Given the description of an element on the screen output the (x, y) to click on. 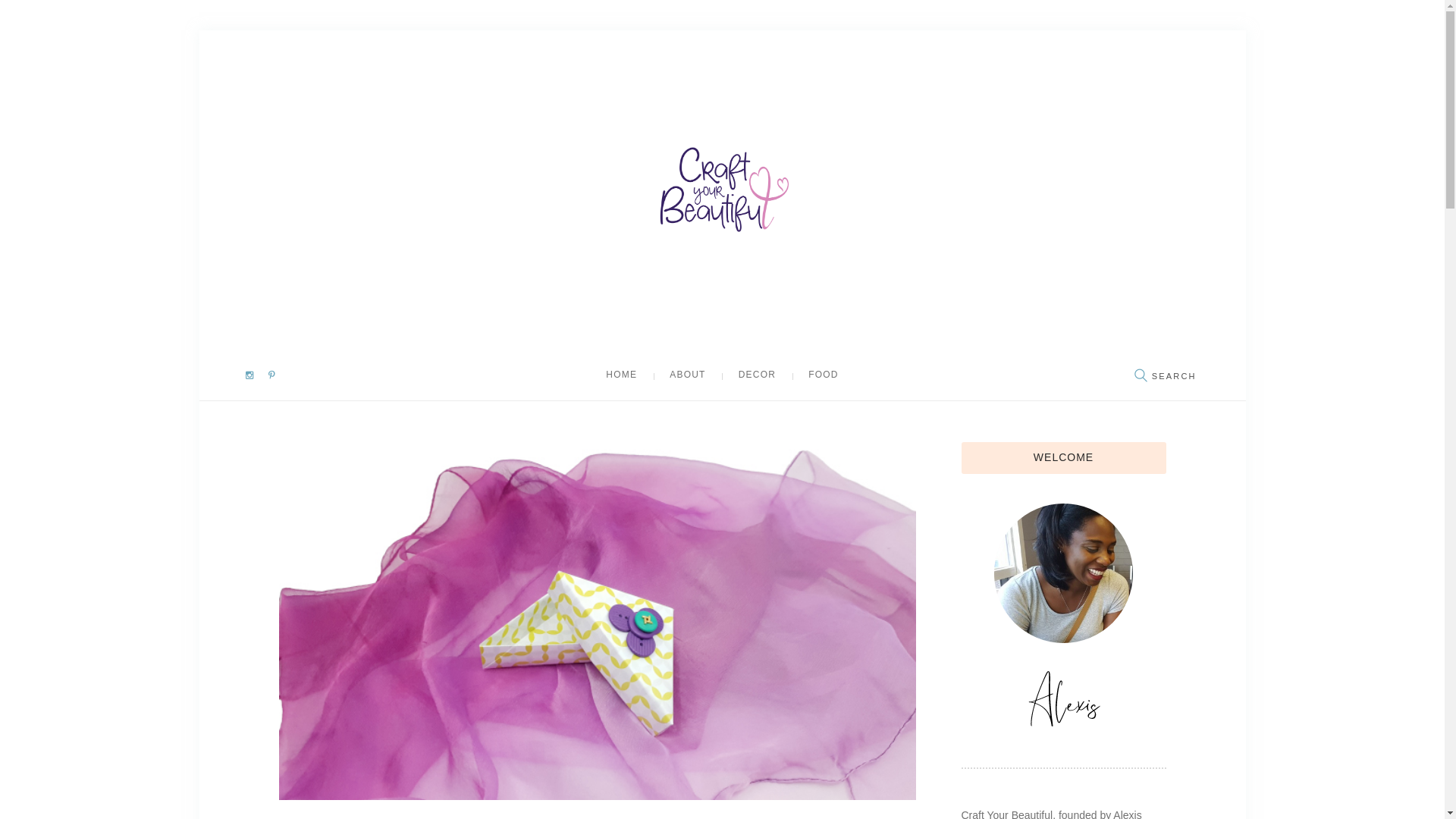
ABOUT (687, 374)
DECOR (757, 374)
HOME (621, 374)
FOOD (824, 374)
